Given the description of an element on the screen output the (x, y) to click on. 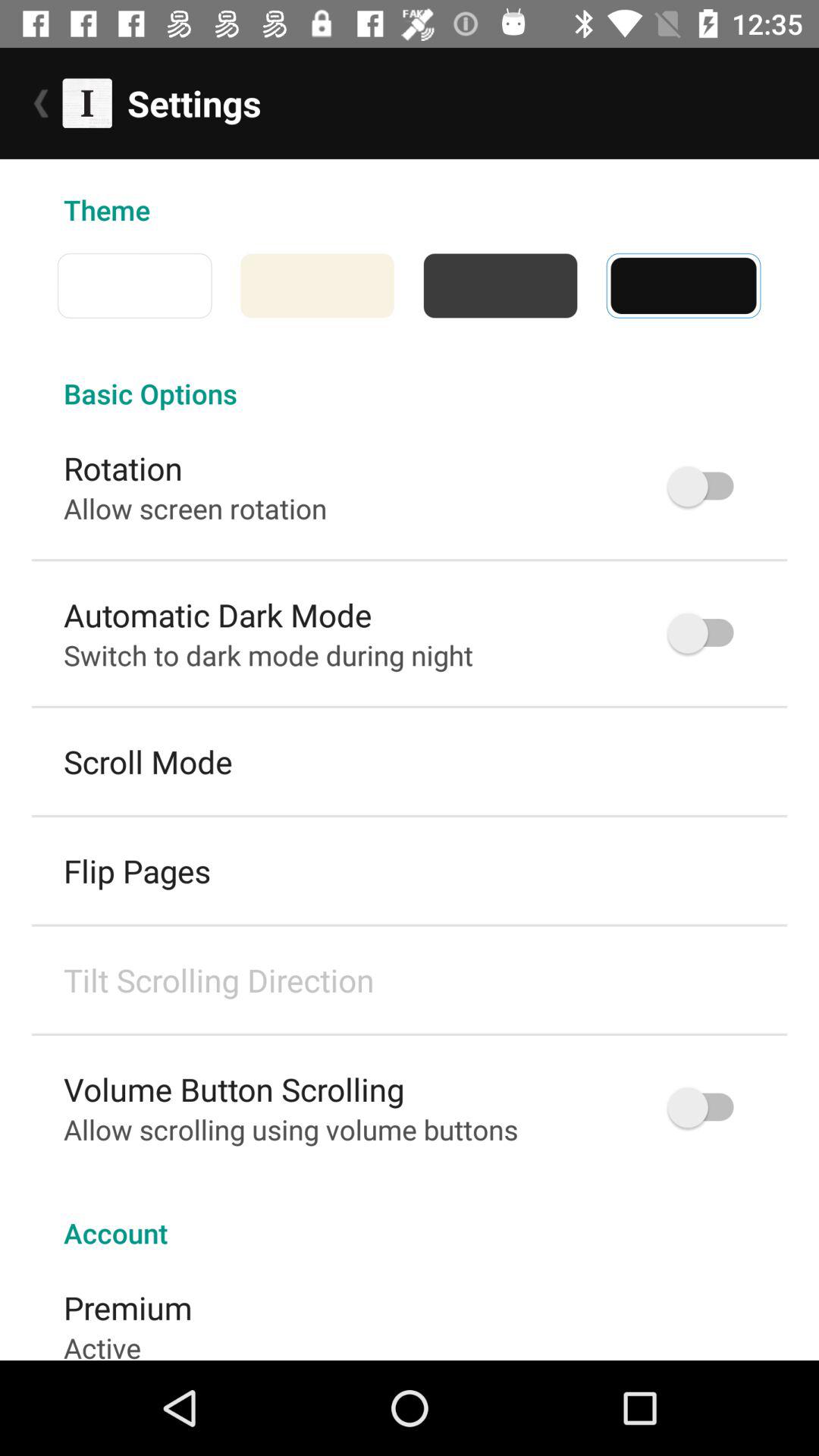
select the icon above basic options (225, 285)
